Given the description of an element on the screen output the (x, y) to click on. 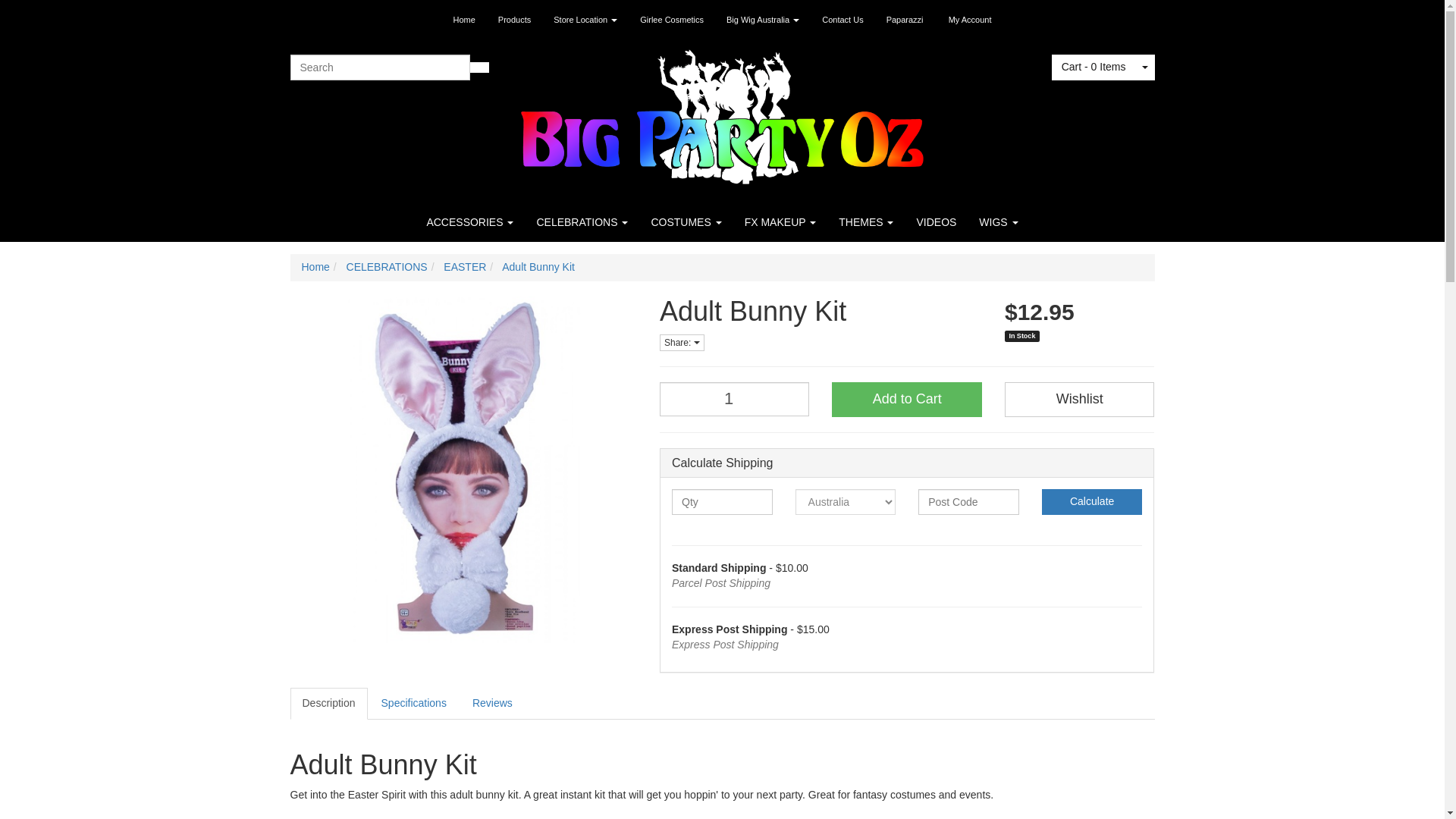
Big Party Oz (722, 111)
Home (463, 19)
Contact Us (842, 19)
Girlee Cosmetics (671, 19)
1 (734, 399)
Add to Cart (906, 399)
Big Wig Australia (762, 19)
Store Location (584, 19)
Products (513, 19)
My Account (970, 19)
Paparazzi (904, 19)
Calculate (1092, 501)
